Given the description of an element on the screen output the (x, y) to click on. 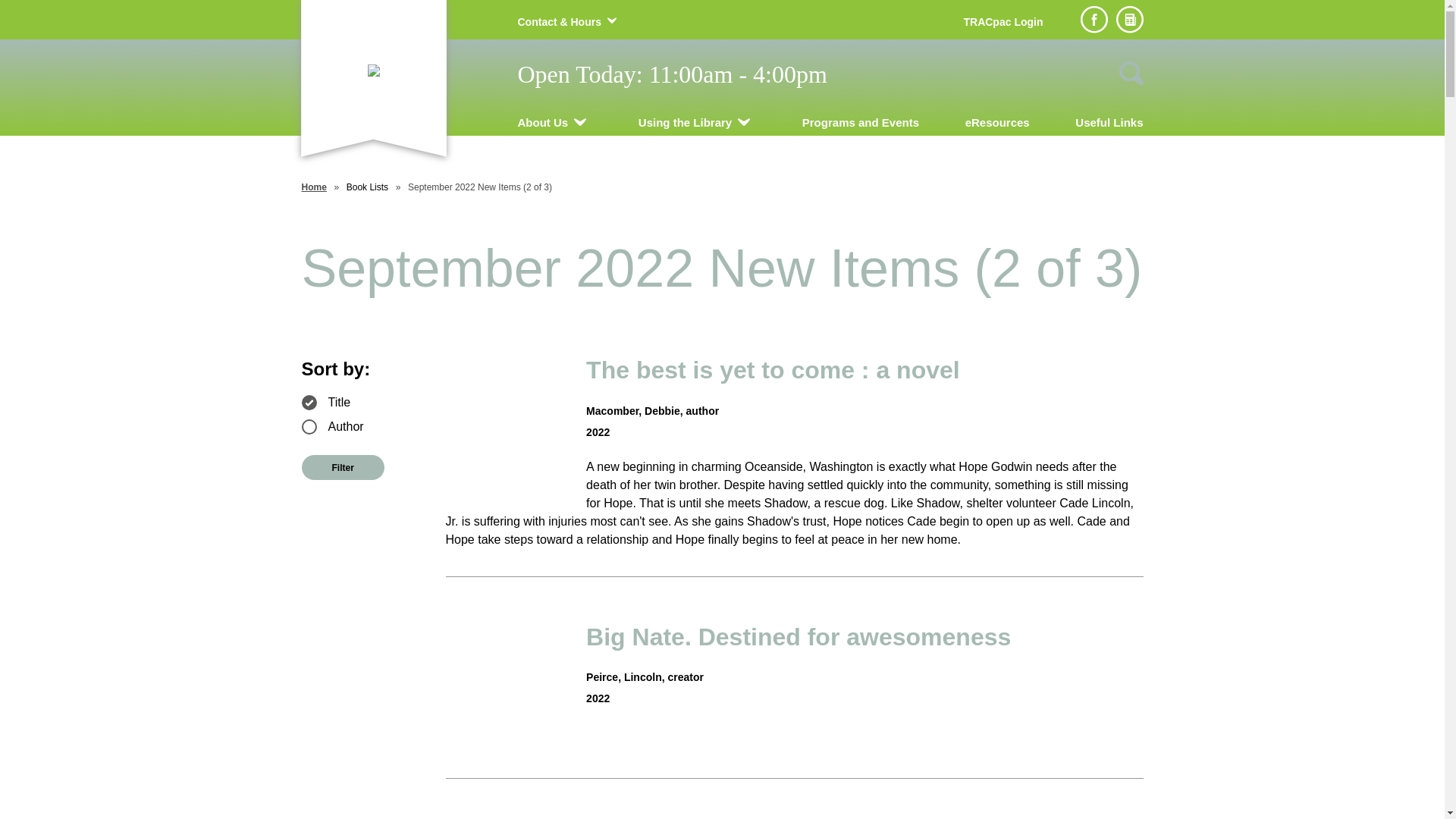
Newsletter sign up Element type: hover (1129, 19)
Filter Element type: text (342, 467)
The best is yet to come : a novel Element type: text (794, 369)
Programs and Events Element type: text (860, 122)
eResources Element type: text (997, 122)
Home Element type: text (313, 187)
About Us Element type: text (542, 122)
TRACpac Login Element type: text (1002, 21)
Contact & Hours Element type: text (558, 21)
Using the Library Element type: text (684, 122)
Manning Municipal Library Element type: hover (373, 69)
Big Nate. Destined for awesomeness Element type: text (794, 636)
Useful Links Element type: text (1108, 122)
Facebook Element type: hover (1093, 19)
